Given the description of an element on the screen output the (x, y) to click on. 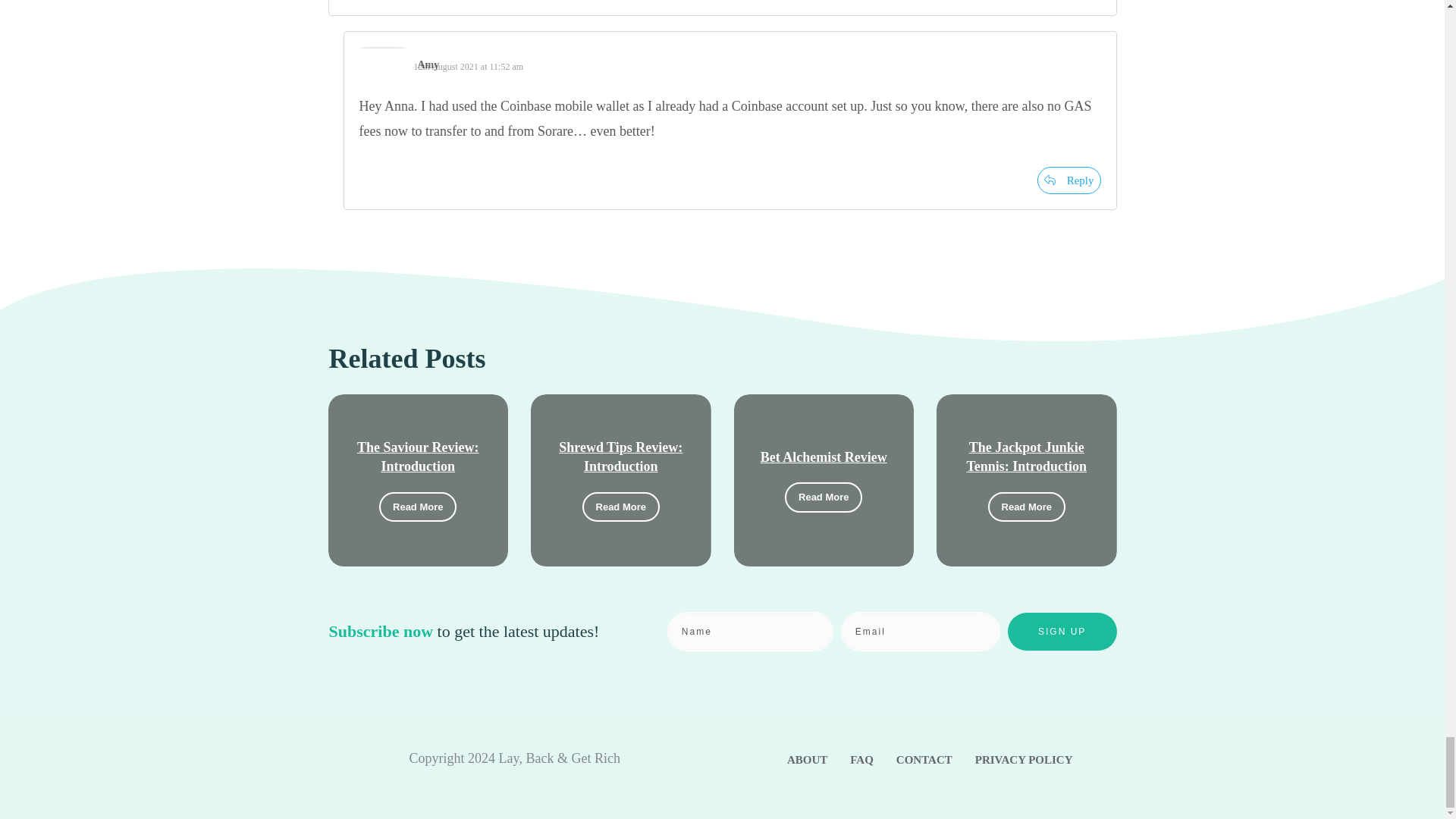
The Saviour Review: Introduction (417, 456)
The Jackpot Junkie Tennis: Introduction (1026, 456)
Bet Alchemist Review (823, 457)
Shrewd Tips Review: Introduction (620, 456)
